Given the description of an element on the screen output the (x, y) to click on. 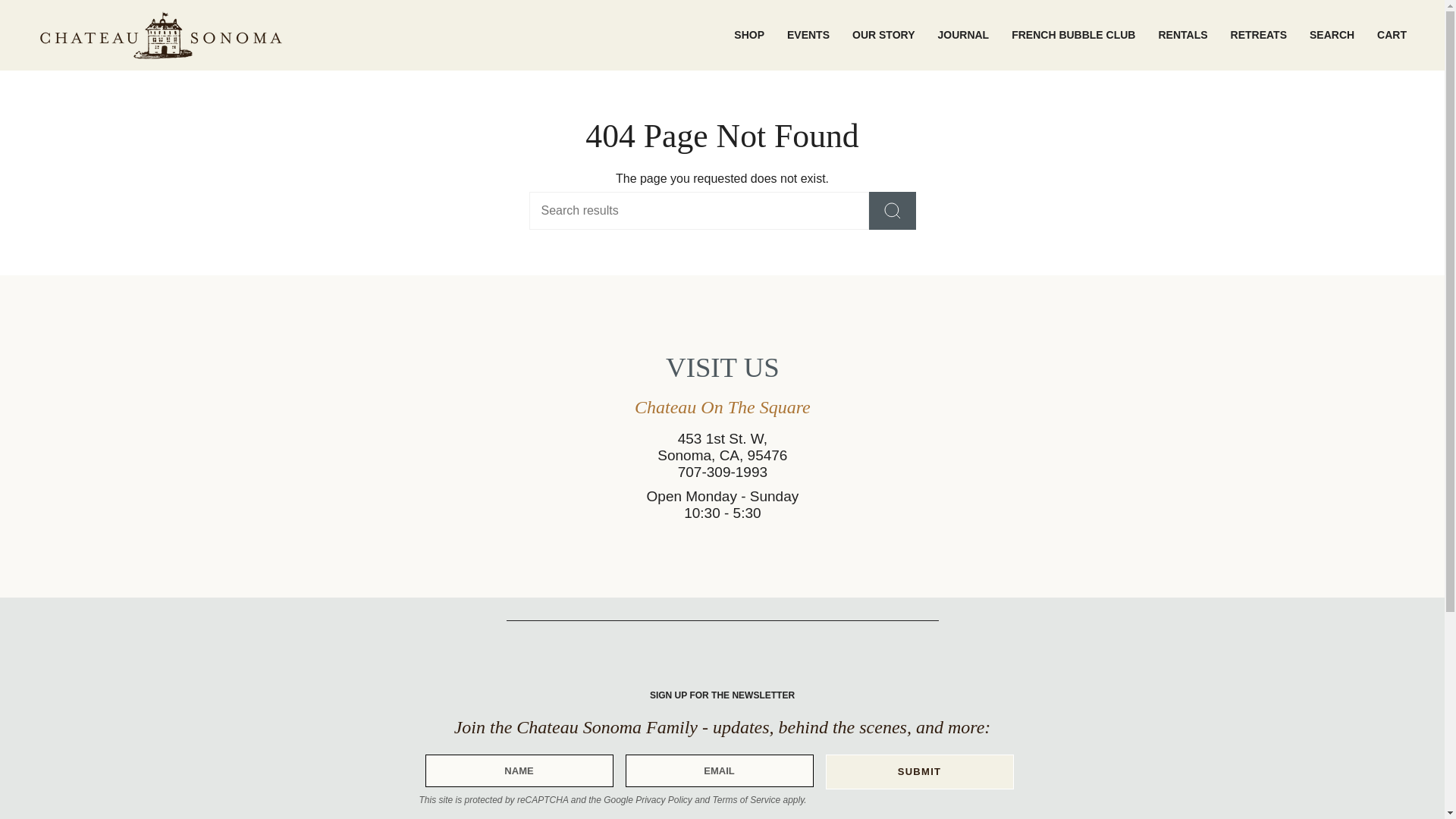
OUR STORY (883, 34)
EVENTS (808, 34)
Search (1331, 35)
JOURNAL (963, 34)
SHOP (749, 34)
Cart (1391, 35)
RENTALS (1182, 34)
FRENCH BUBBLE CLUB (1073, 34)
RETREATS (1259, 34)
CART (1391, 35)
